Given the description of an element on the screen output the (x, y) to click on. 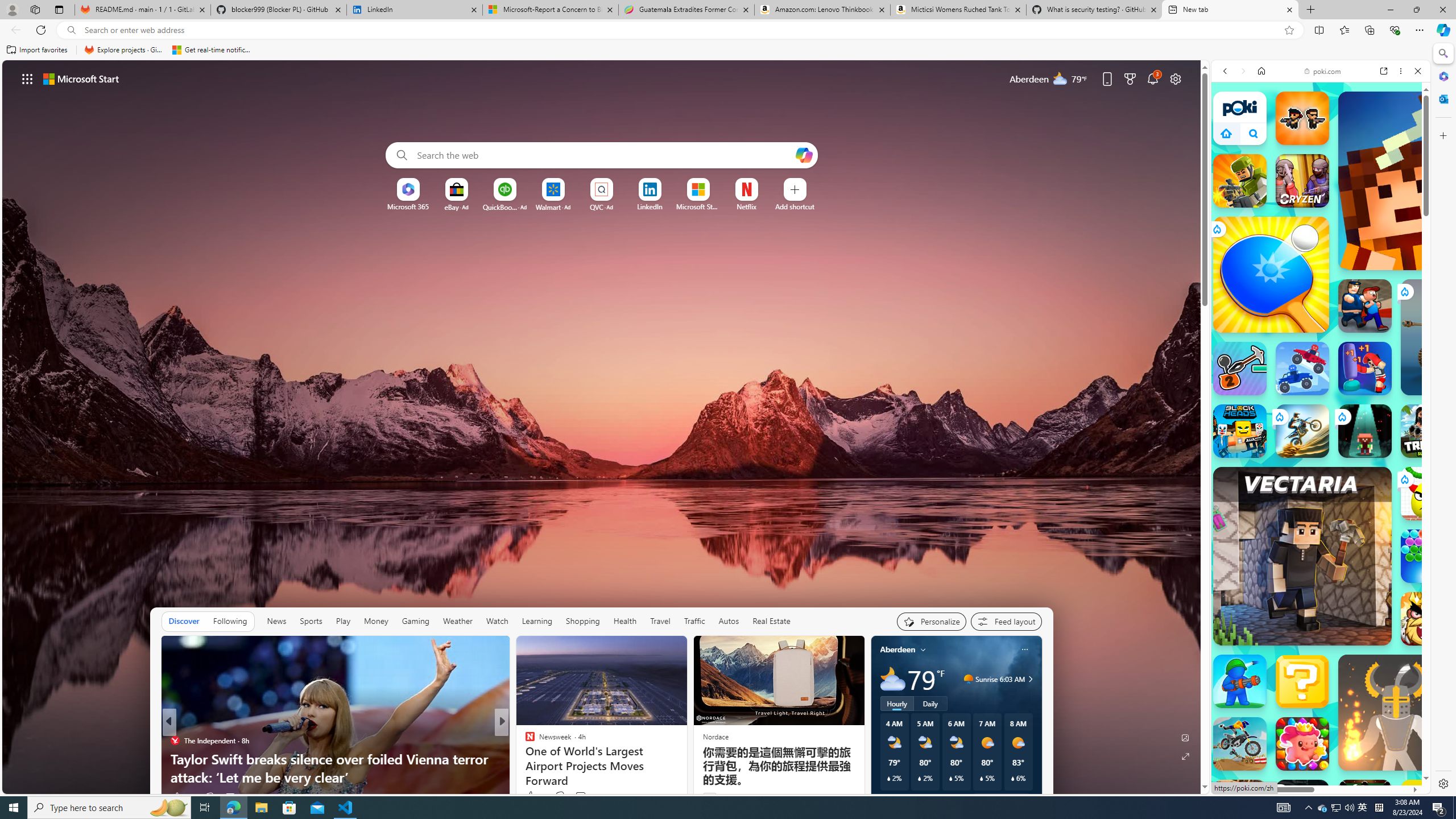
Escape From School (1364, 305)
Shooting Games (1320, 314)
Match Arena (1302, 743)
Cryzen.io Cryzen.io (1302, 180)
Class: aprWdaSScyiJf4Jvmsx9 (1225, 133)
Mostly cloudy (892, 678)
Hemmings (524, 740)
